Given the description of an element on the screen output the (x, y) to click on. 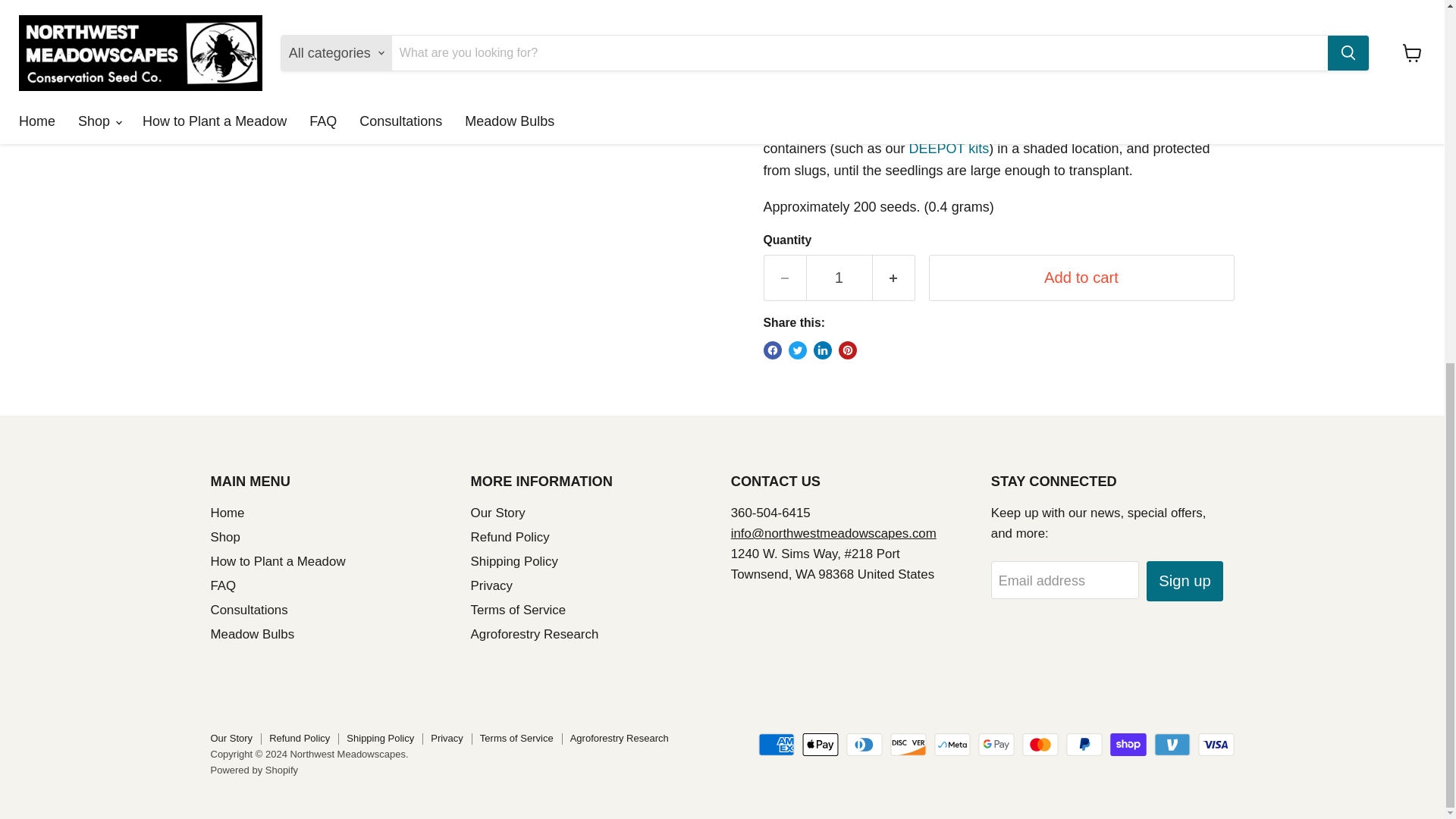
Discover (907, 744)
Meta Pay (952, 744)
Diners Club (863, 744)
American Express (776, 744)
PayPal (1083, 744)
Shop Pay (1128, 744)
Apple Pay (820, 744)
Google Pay (996, 744)
1 (838, 277)
Mastercard (1040, 744)
